Given the description of an element on the screen output the (x, y) to click on. 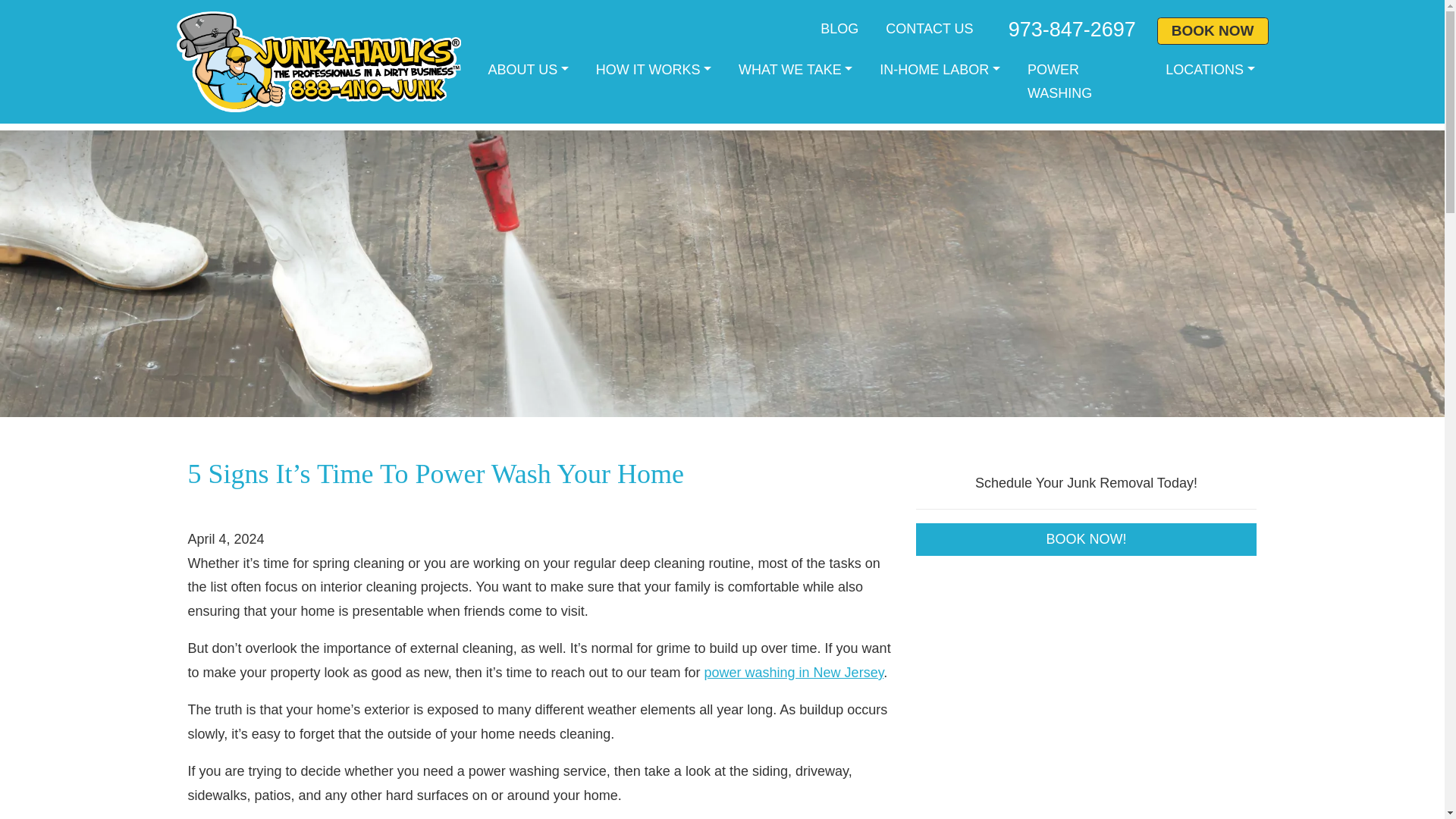
WHAT WE TAKE (795, 70)
About Us (528, 70)
How It Works (653, 70)
ABOUT US (528, 70)
HOW IT WORKS (653, 70)
